Given the description of an element on the screen output the (x, y) to click on. 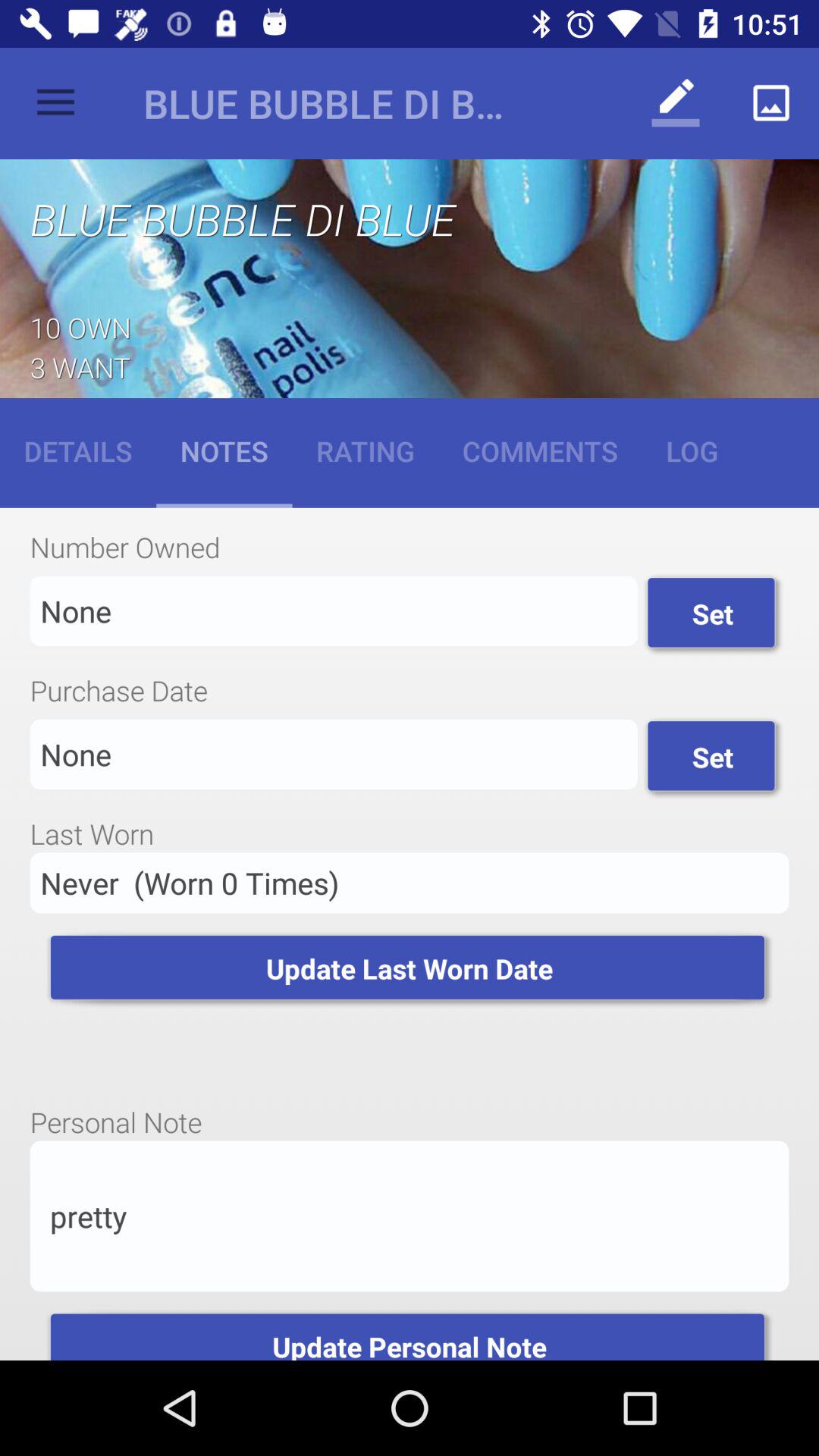
click the notes item (224, 450)
